Given the description of an element on the screen output the (x, y) to click on. 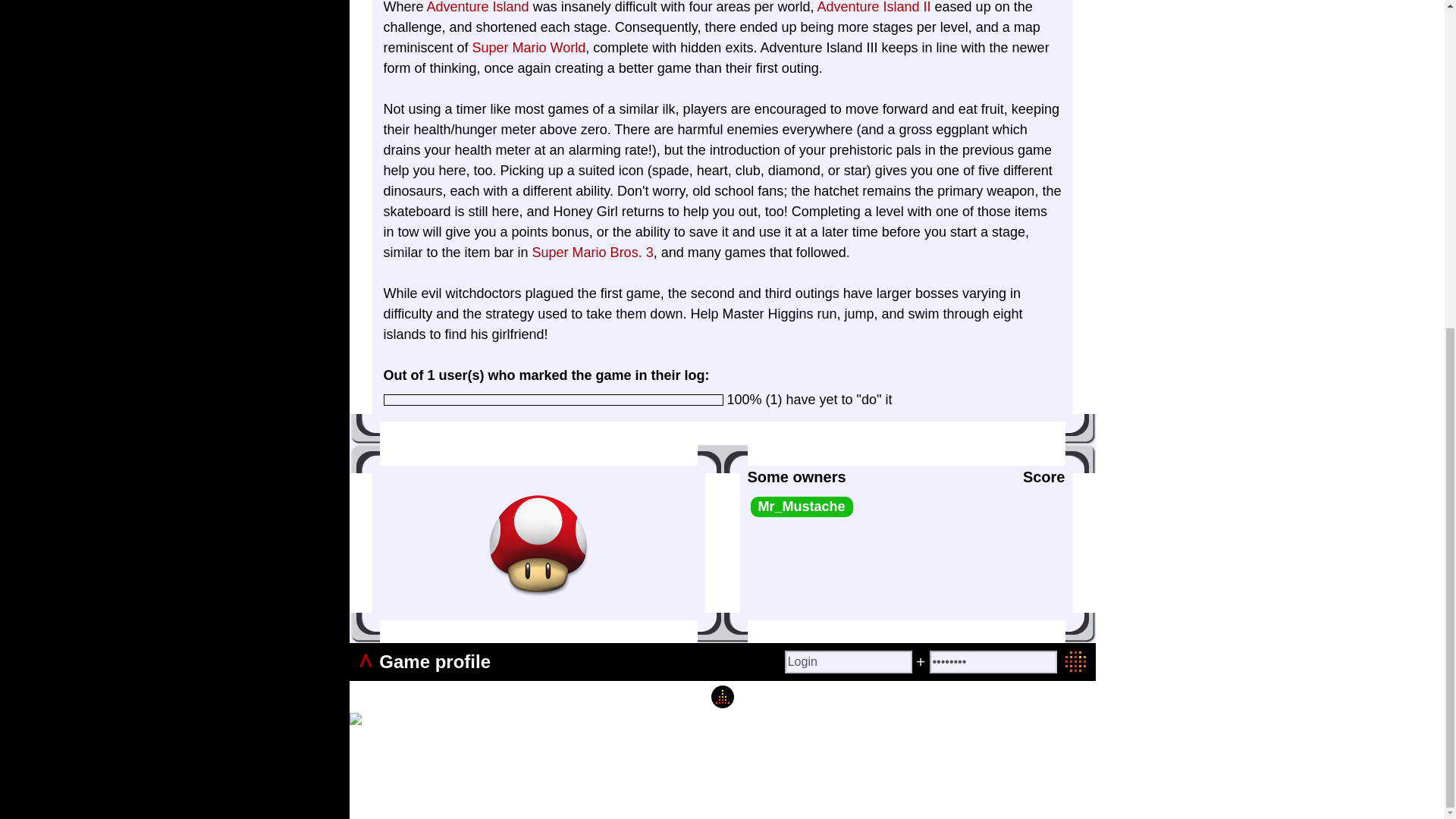
Login (848, 661)
Adventure Island II (873, 7)
Password (993, 661)
Adventure Island (477, 7)
